Given the description of an element on the screen output the (x, y) to click on. 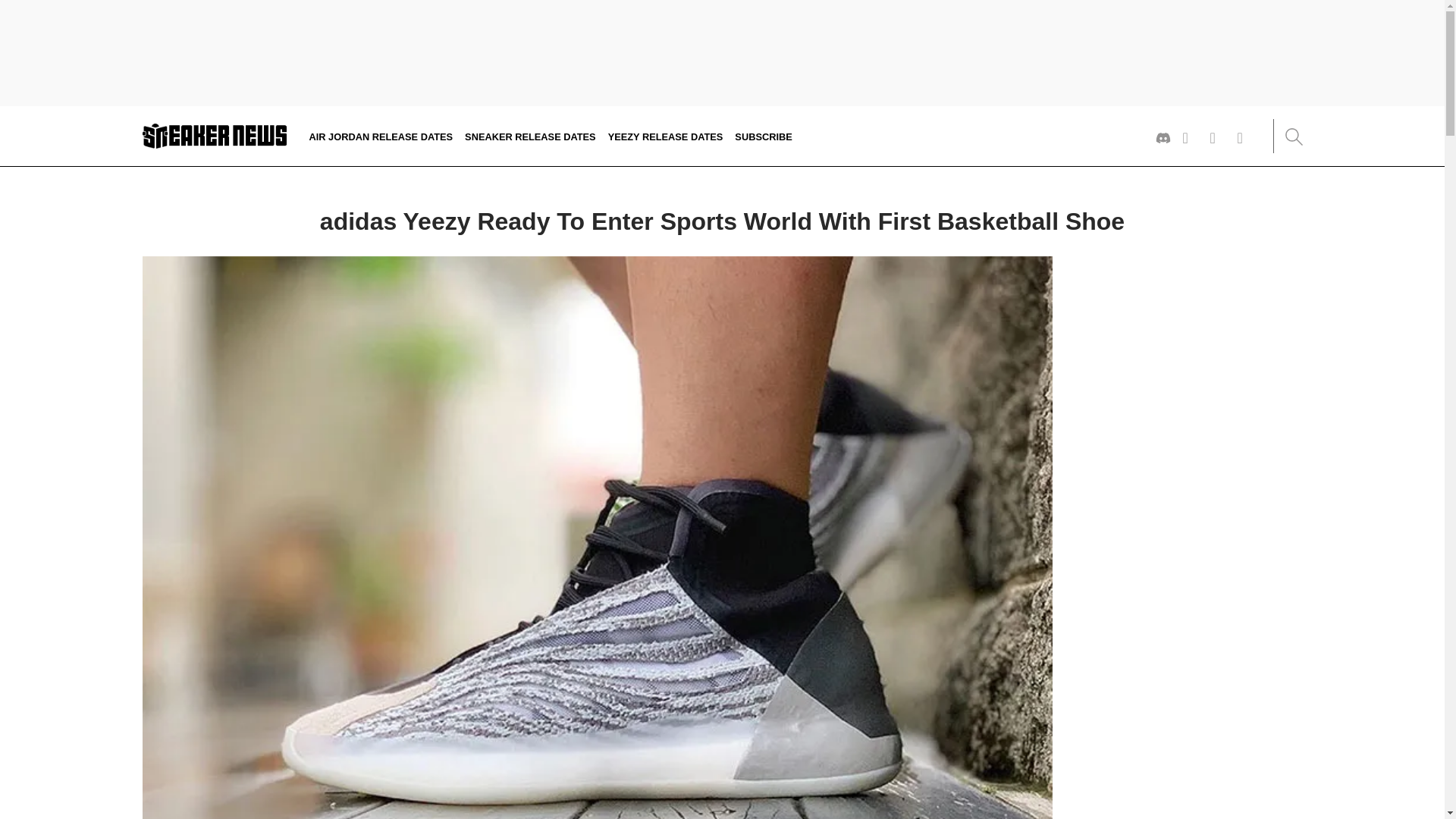
Search (1292, 136)
SNEAKER RELEASE DATES (529, 135)
SUBSCRIBE (763, 135)
Facebook (1244, 137)
Skip to main content (4, 121)
YEEZY RELEASE DATES (665, 135)
Discord (1163, 137)
AIR JORDAN RELEASE DATES (380, 135)
Instagram (1217, 137)
Twitter (1190, 137)
